Given the description of an element on the screen output the (x, y) to click on. 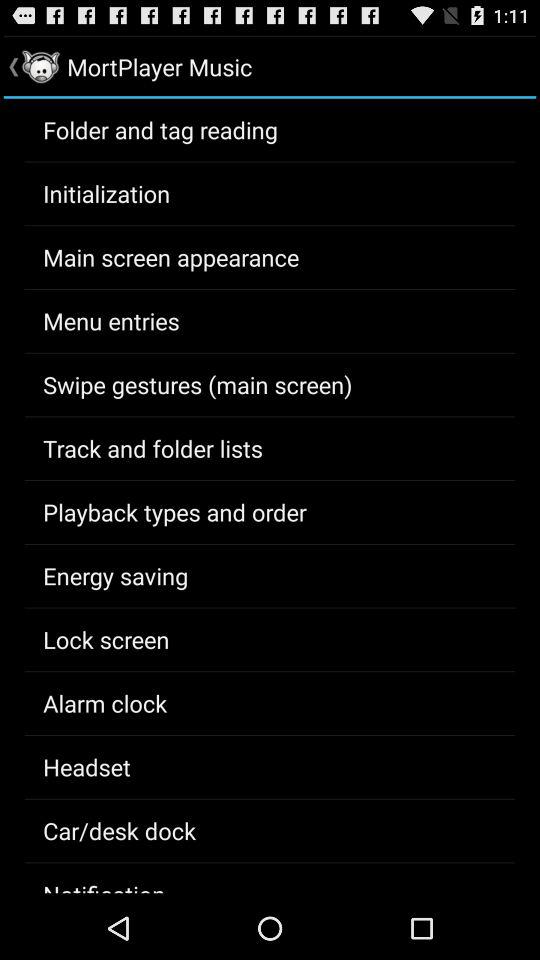
turn off the item below the energy saving item (106, 639)
